Given the description of an element on the screen output the (x, y) to click on. 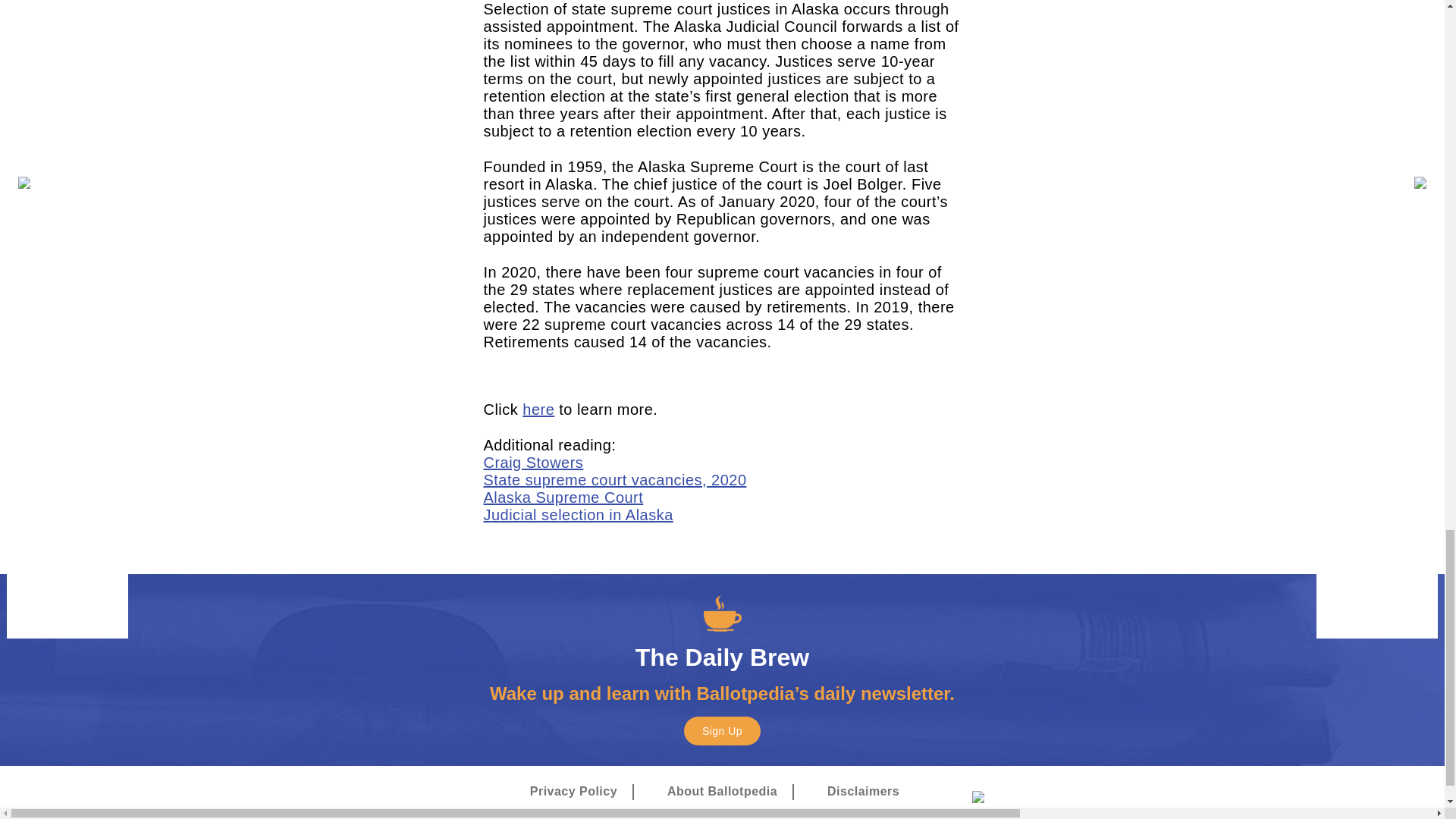
Disclaimers (863, 791)
About Ballotpedia (721, 791)
State supreme court vacancies, 2020 (614, 479)
Privacy Policy (573, 791)
Judicial selection in Alaska (577, 514)
Craig Stowers (533, 462)
Sign Up (722, 730)
Alaska Supreme Court (563, 497)
here (538, 409)
